Given the description of an element on the screen output the (x, y) to click on. 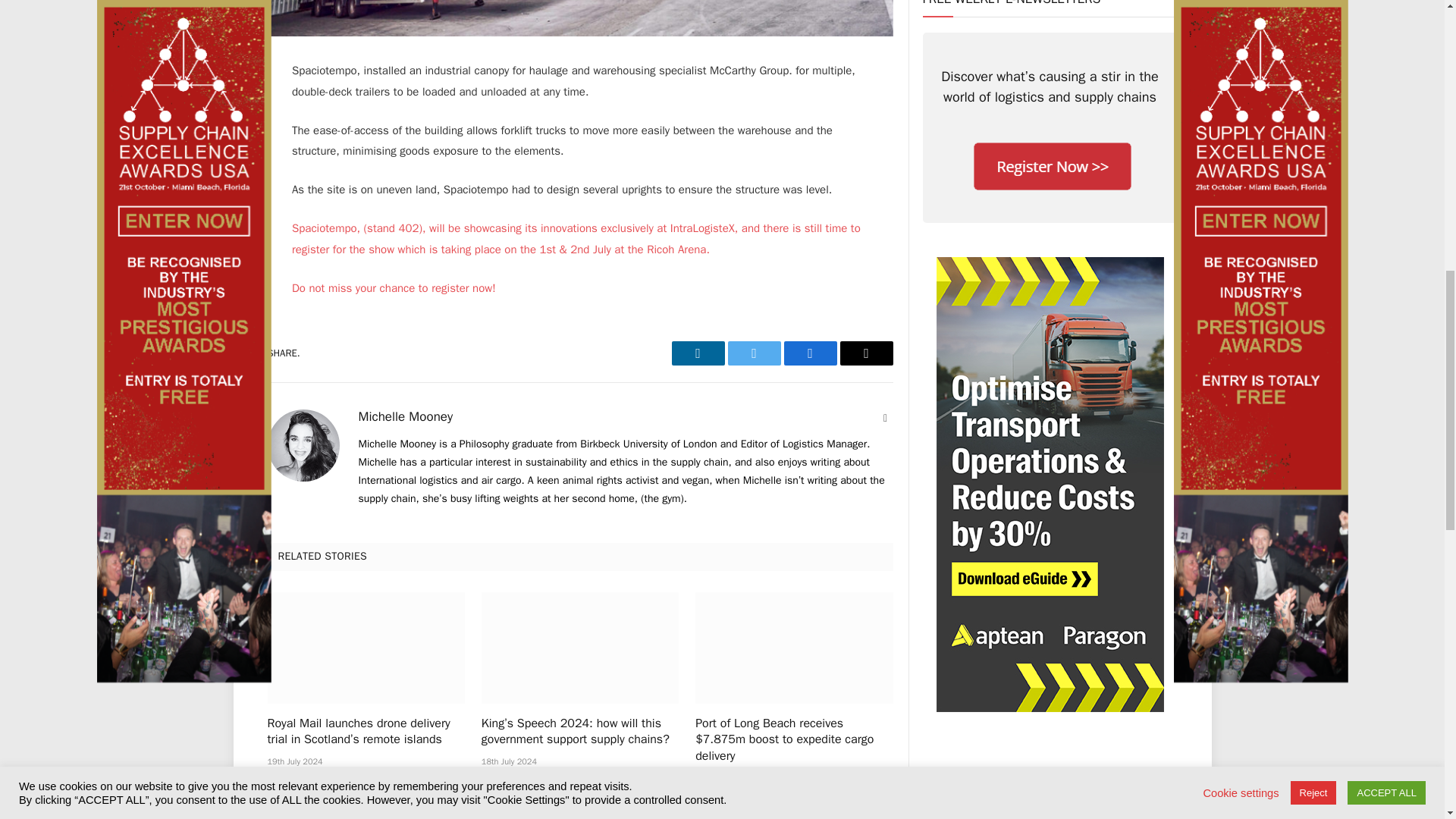
Share on LinkedIn (698, 353)
